Given the description of an element on the screen output the (x, y) to click on. 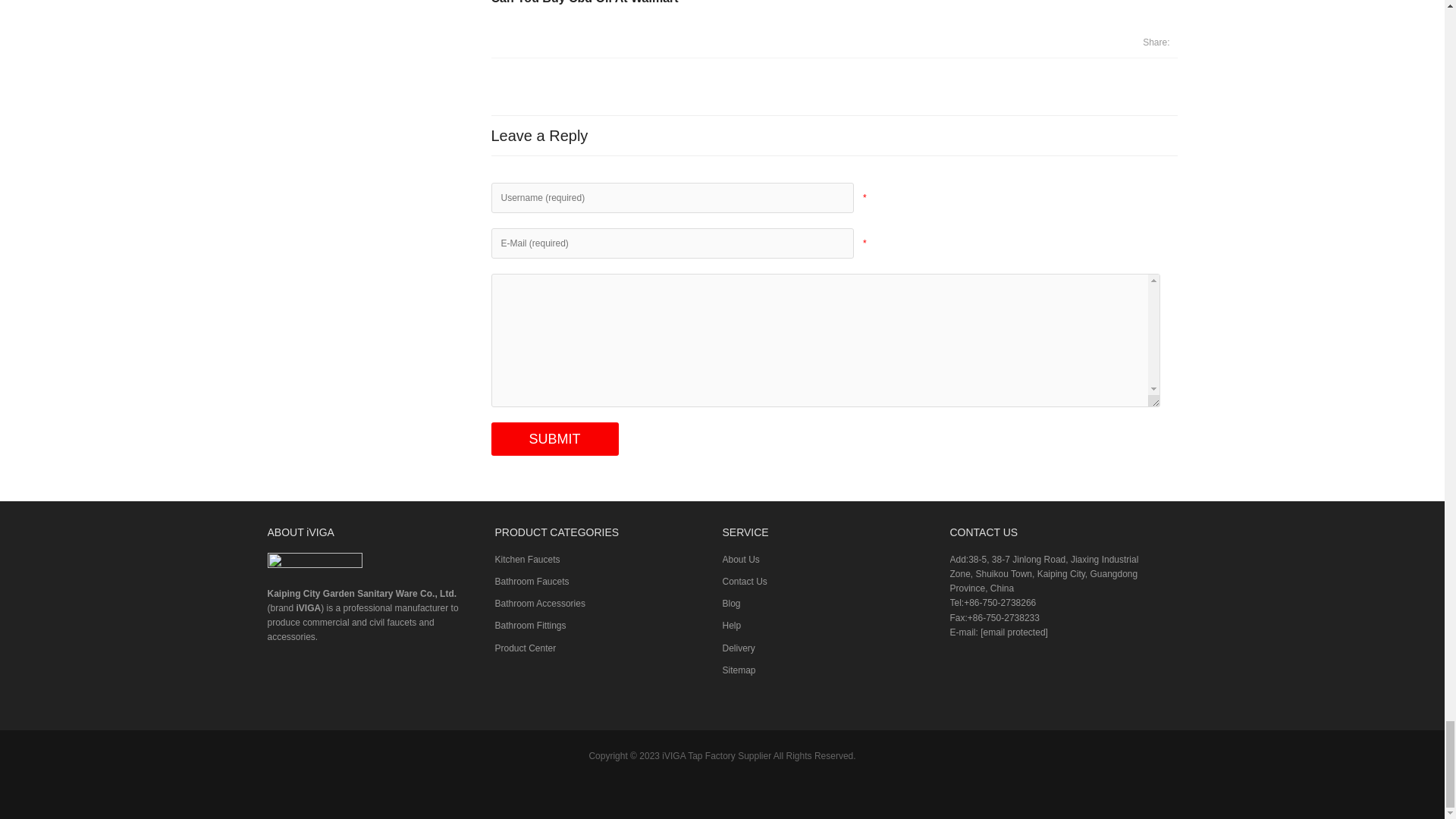
SUBMIT (555, 438)
Pinterest (733, 789)
Instagram (791, 789)
Facebook (649, 789)
Twitter (676, 789)
YouTube (762, 789)
Post Comment (555, 438)
